Given the description of an element on the screen output the (x, y) to click on. 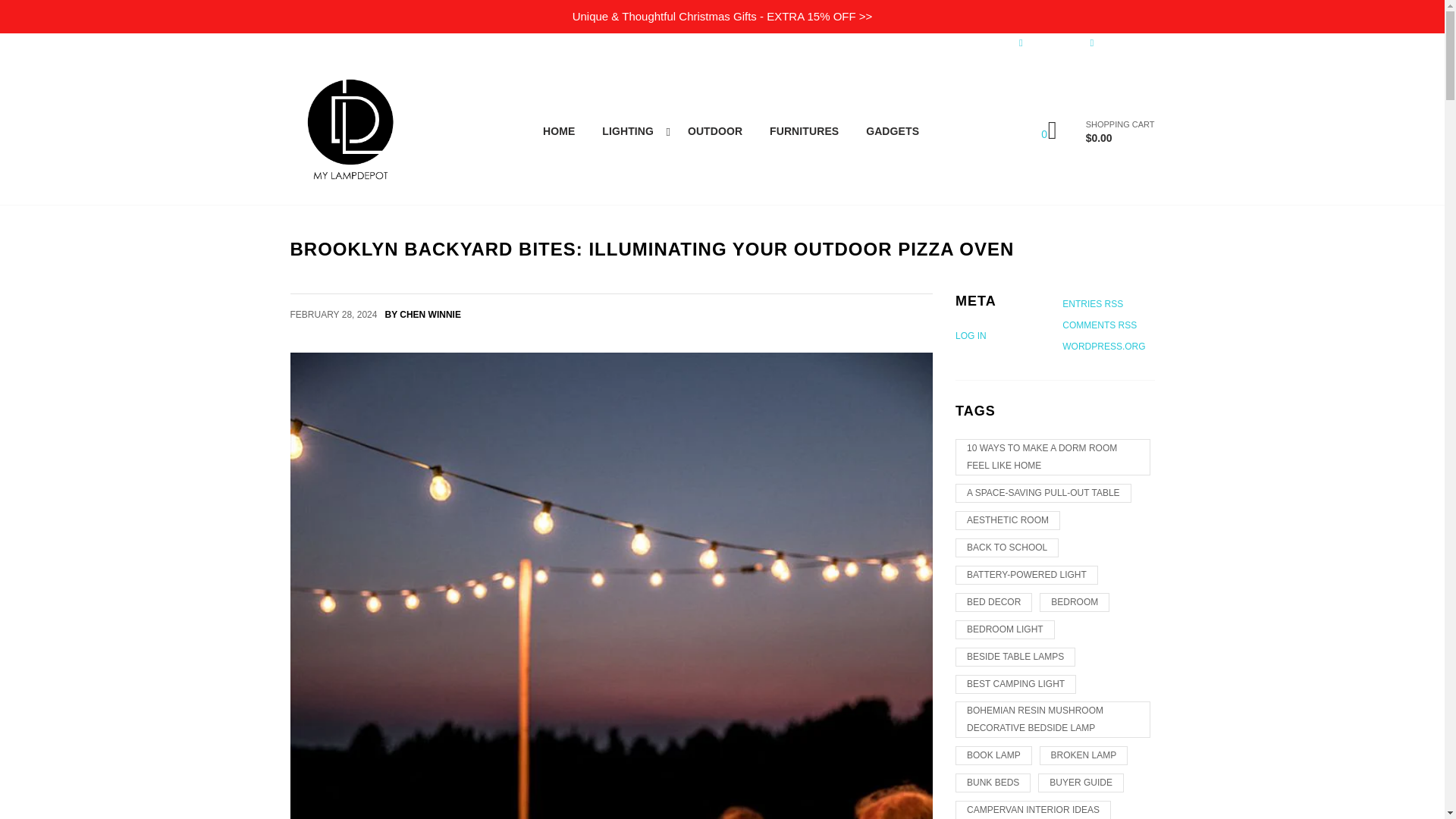
HOME (558, 130)
SEARCH (1041, 42)
ENG (299, 42)
USD (350, 42)
lampdepot (349, 130)
MY ACCOUNT (1115, 42)
OUTDOOR (714, 130)
LIGHTING (631, 130)
